Given the description of an element on the screen output the (x, y) to click on. 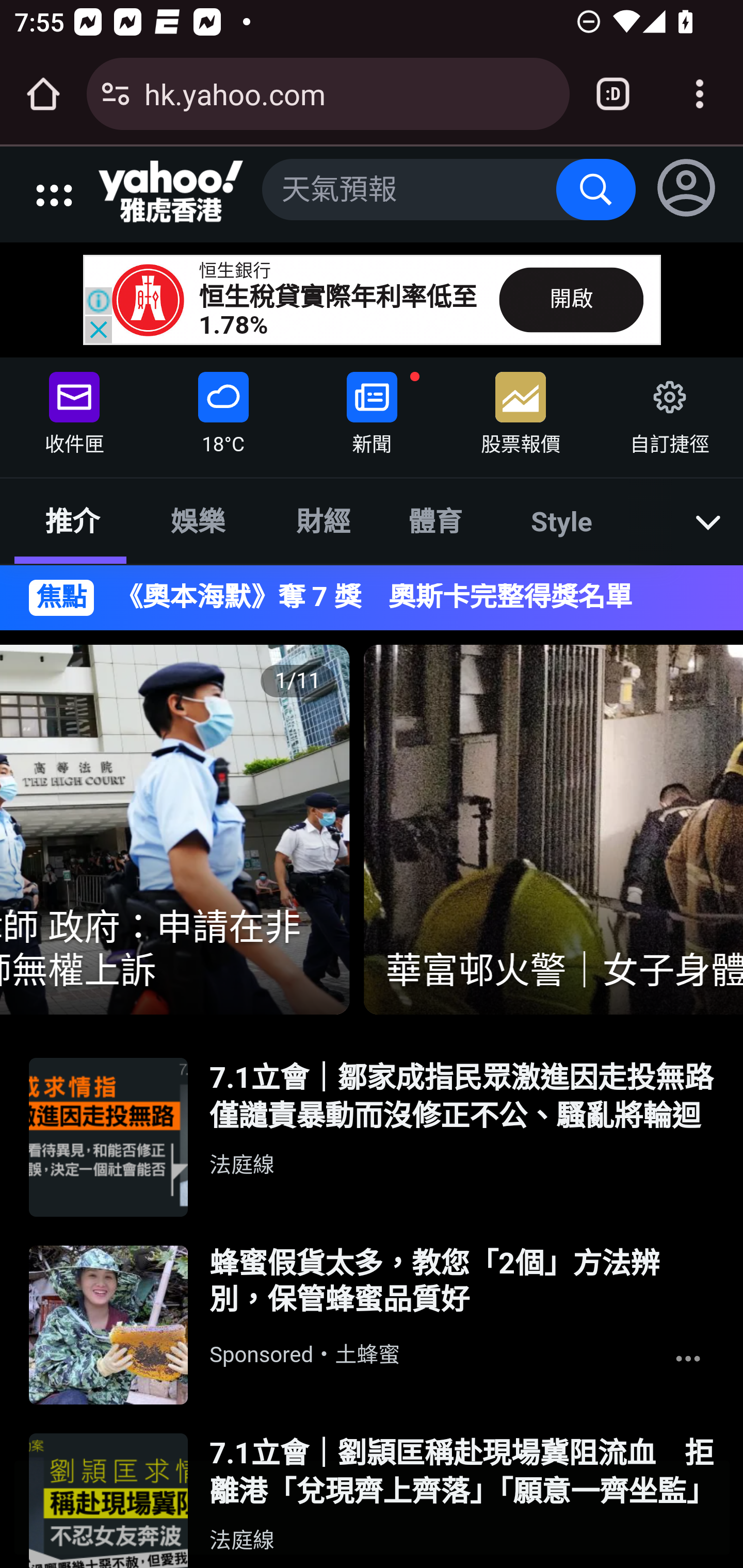
Open the home page (43, 93)
Connection is secure (115, 93)
Switch or close tabs (612, 93)
Customize and control Google Chrome (699, 93)
hk.yahoo.com (349, 92)
sidebar (68, 185)
Yahoo 行動版 Yahoo 行動版 Yahoo 行動版 (171, 191)
member (686, 191)
恒生銀行 (235, 271)
開啟 (571, 299)
恒生稅貸實際年利率低至 1.78% 恒生稅貸實際年利率低至 1.78% (338, 311)
icon-mail 收件匣 icon-mail 收件匣 (74, 408)
weather 18°C weather 18 °C (222, 408)
icon-news 新聞 icon-news 新聞 (372, 408)
icon-finance-quote 股票報價 icon-finance-quote 股票報價 (520, 408)
icon-settings 自訂捷徑 icon-settings 自訂捷徑 (668, 408)
推介 (72, 520)
娛樂 (196, 520)
財經 (323, 520)
體育 (434, 520)
Style (562, 520)
《奧本海默》奪 7 獎　奧斯卡完整得獎名單 (404, 596)
